Given the description of an element on the screen output the (x, y) to click on. 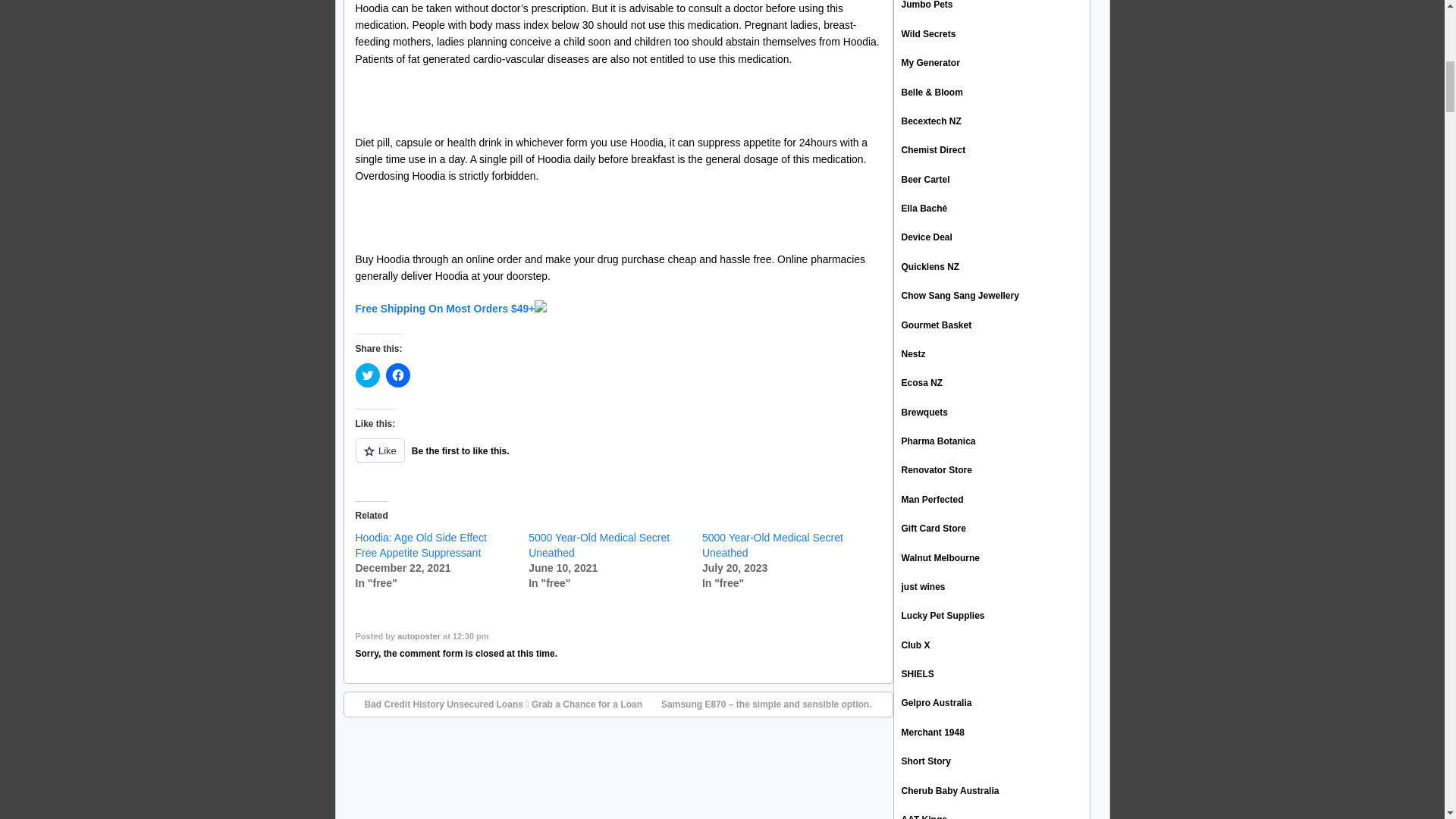
Like or Reblog (617, 458)
autoposter (419, 635)
5000 Year-Old Medical Secret Uneathed (772, 544)
Click to share on Facebook (397, 375)
5000 Year-Old Medical Secret Uneathed (598, 544)
5000 Year-Old Medical Secret Uneathed (598, 544)
Click to share on Twitter (366, 375)
5000 Year-Old Medical Secret Uneathed (772, 544)
Hoodia: Age Old Side Effect Free Appetite Suppressant (420, 544)
Hoodia: Age Old Side Effect Free Appetite Suppressant (420, 544)
